Given the description of an element on the screen output the (x, y) to click on. 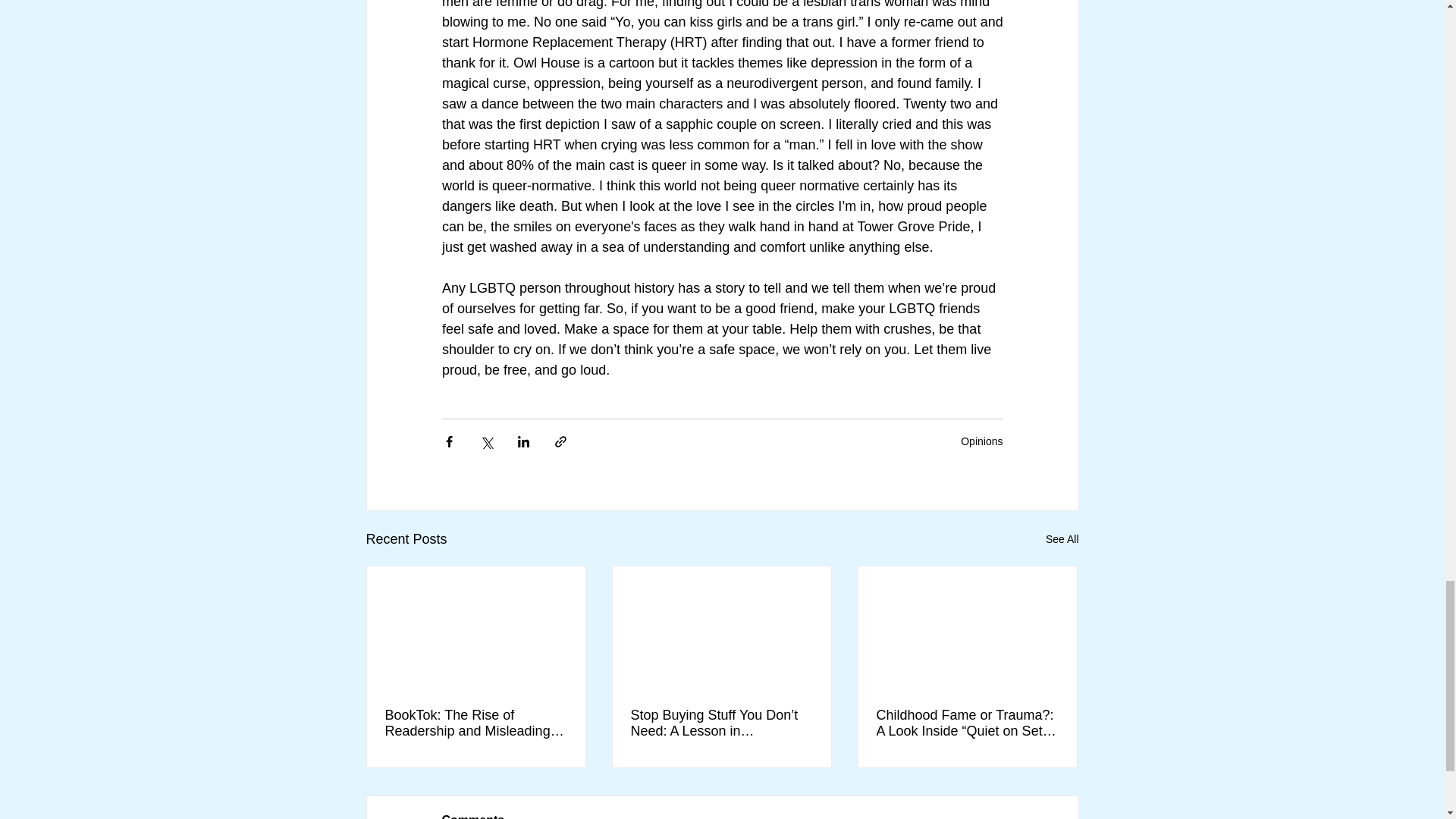
Opinions (981, 440)
BookTok: The Rise of Readership and Misleading Marketing (476, 723)
See All (1061, 539)
